Given the description of an element on the screen output the (x, y) to click on. 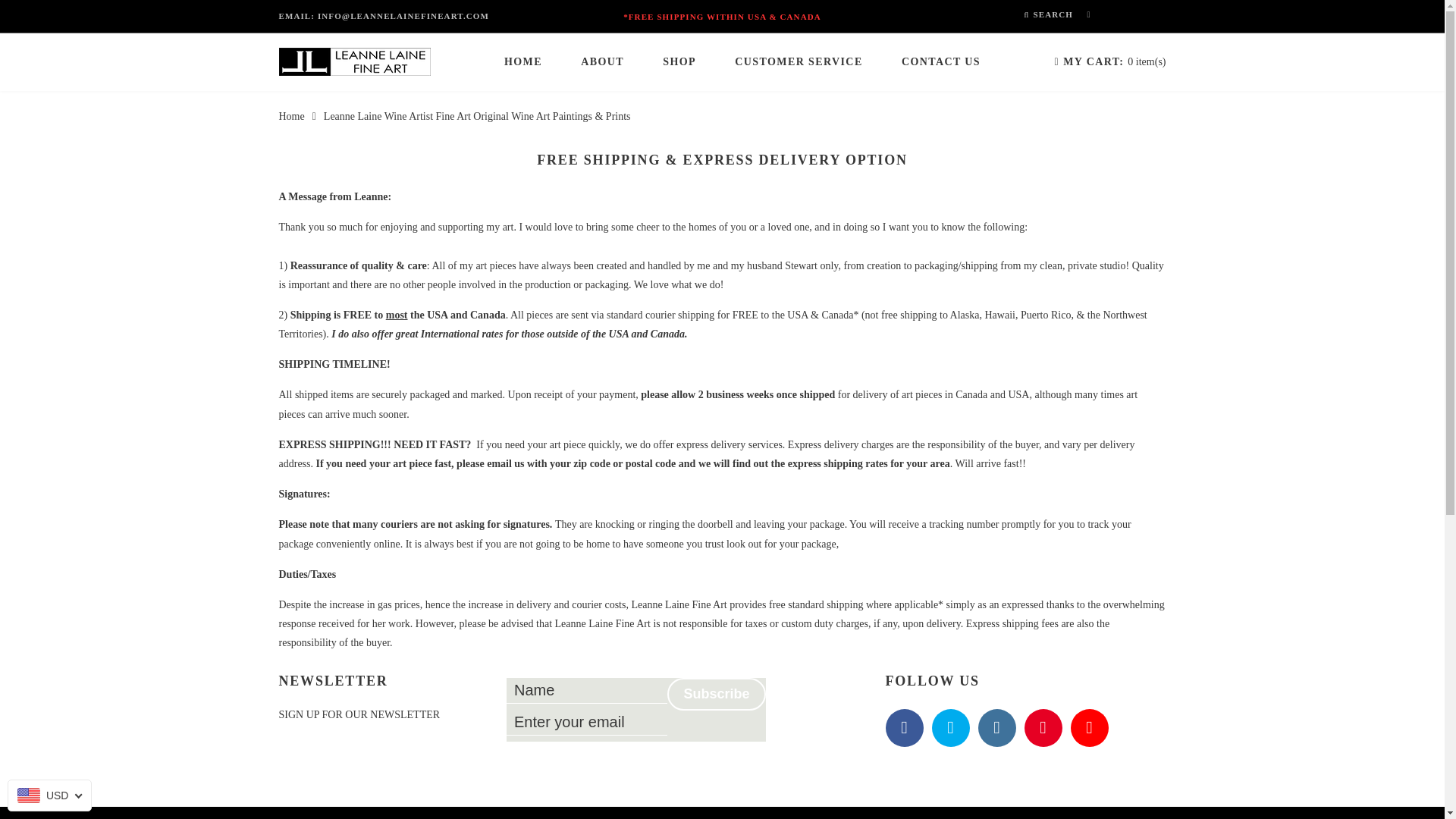
SHOP (678, 62)
CONTACT US (940, 62)
CUSTOMER SERVICE (798, 62)
Home (291, 116)
HOME (522, 62)
ABOUT (602, 62)
